Given the description of an element on the screen output the (x, y) to click on. 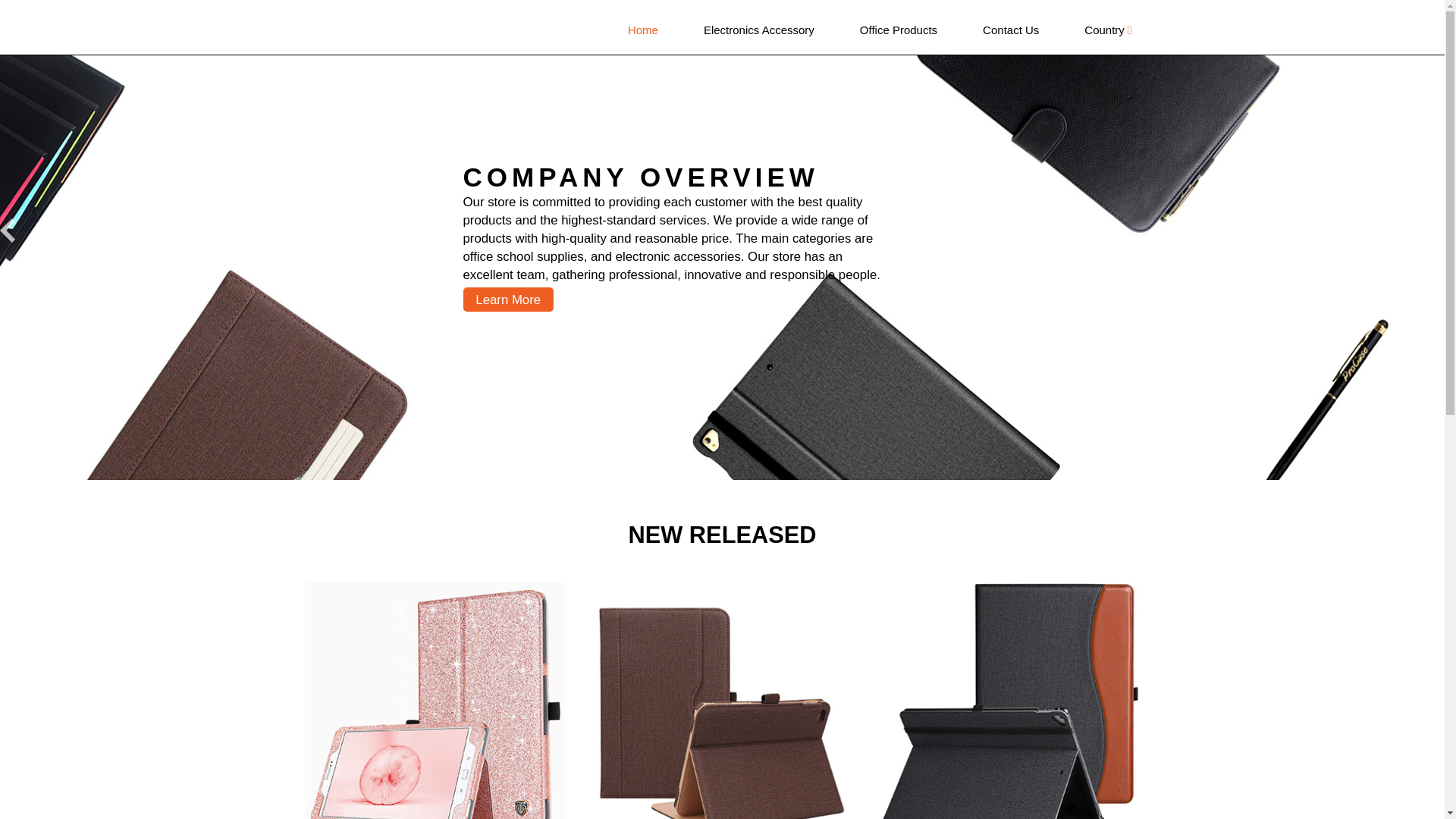
Country (1107, 29)
Learn More (508, 299)
Contact Us (1010, 29)
Electronics Accessory (759, 29)
Office Products (898, 29)
Previous (13, 230)
Home (643, 29)
